Given the description of an element on the screen output the (x, y) to click on. 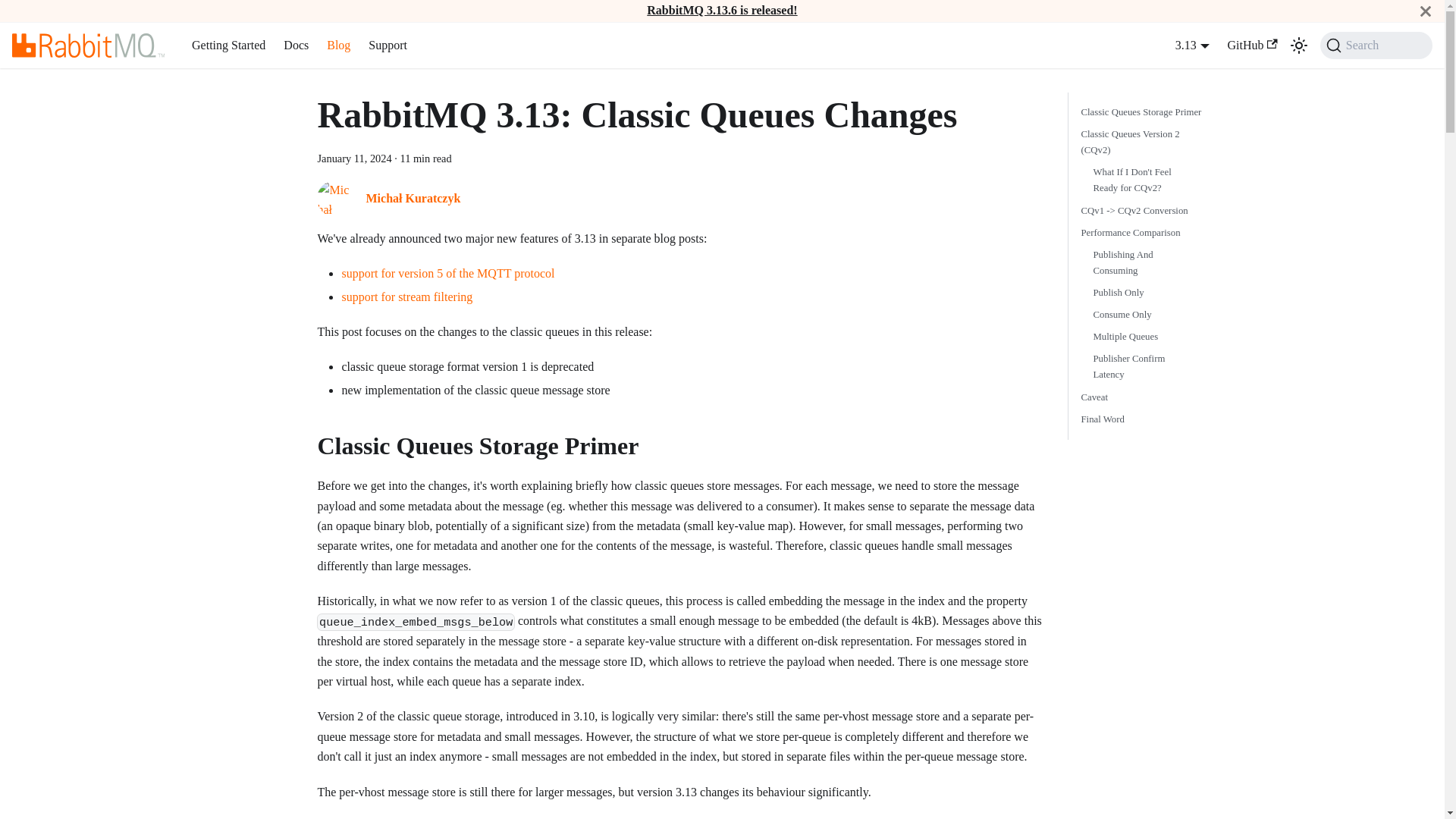
Blog (338, 45)
GitHub (1252, 45)
support for stream filtering (405, 296)
RabbitMQ 3.13.6 is released! (721, 10)
Getting Started (229, 45)
Docs (296, 45)
support for version 5 of the MQTT protocol (447, 273)
3.13 (1191, 44)
Support (387, 45)
Search (1376, 44)
